Given the description of an element on the screen output the (x, y) to click on. 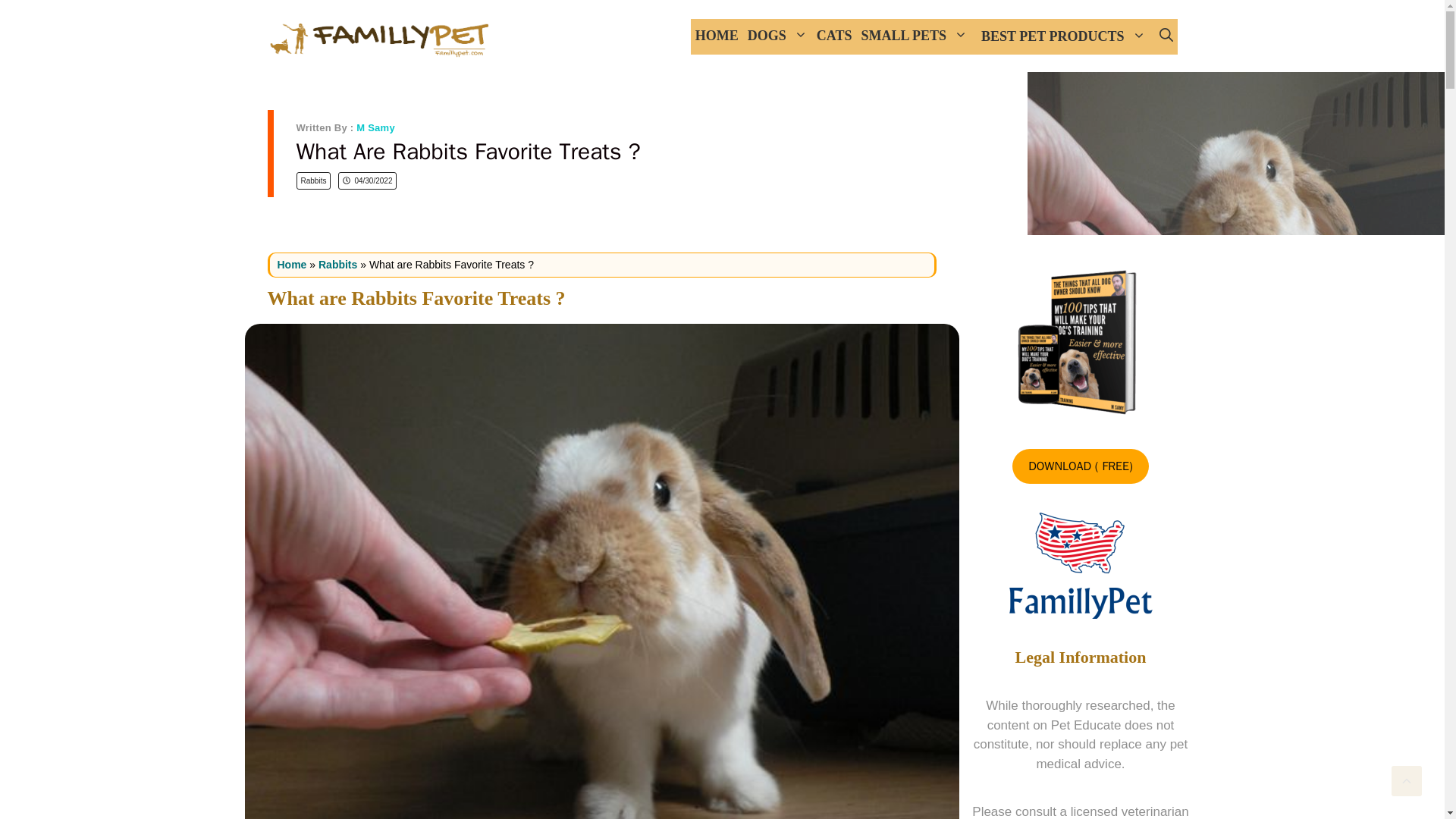
Home (292, 263)
SMALL PETS (914, 35)
BEST PET PRODUCTS (1063, 36)
Rabbits (312, 180)
DOGS (777, 35)
Scroll back to top (1406, 780)
M Samy (375, 127)
HOME (716, 35)
Rabbits (337, 263)
CATS (834, 35)
